Given the description of an element on the screen output the (x, y) to click on. 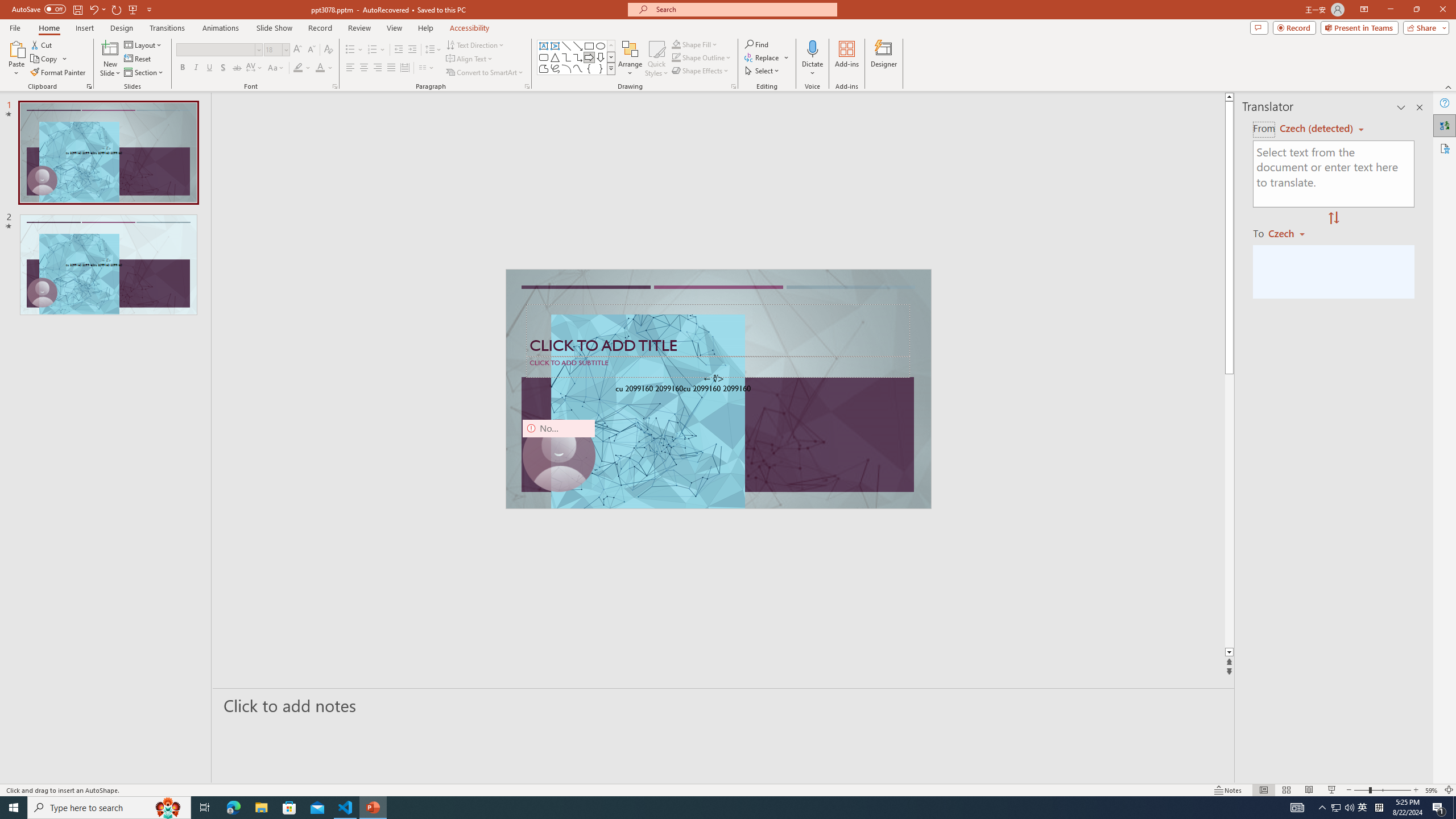
Swap "from" and "to" languages. (1333, 218)
